Given the description of an element on the screen output the (x, y) to click on. 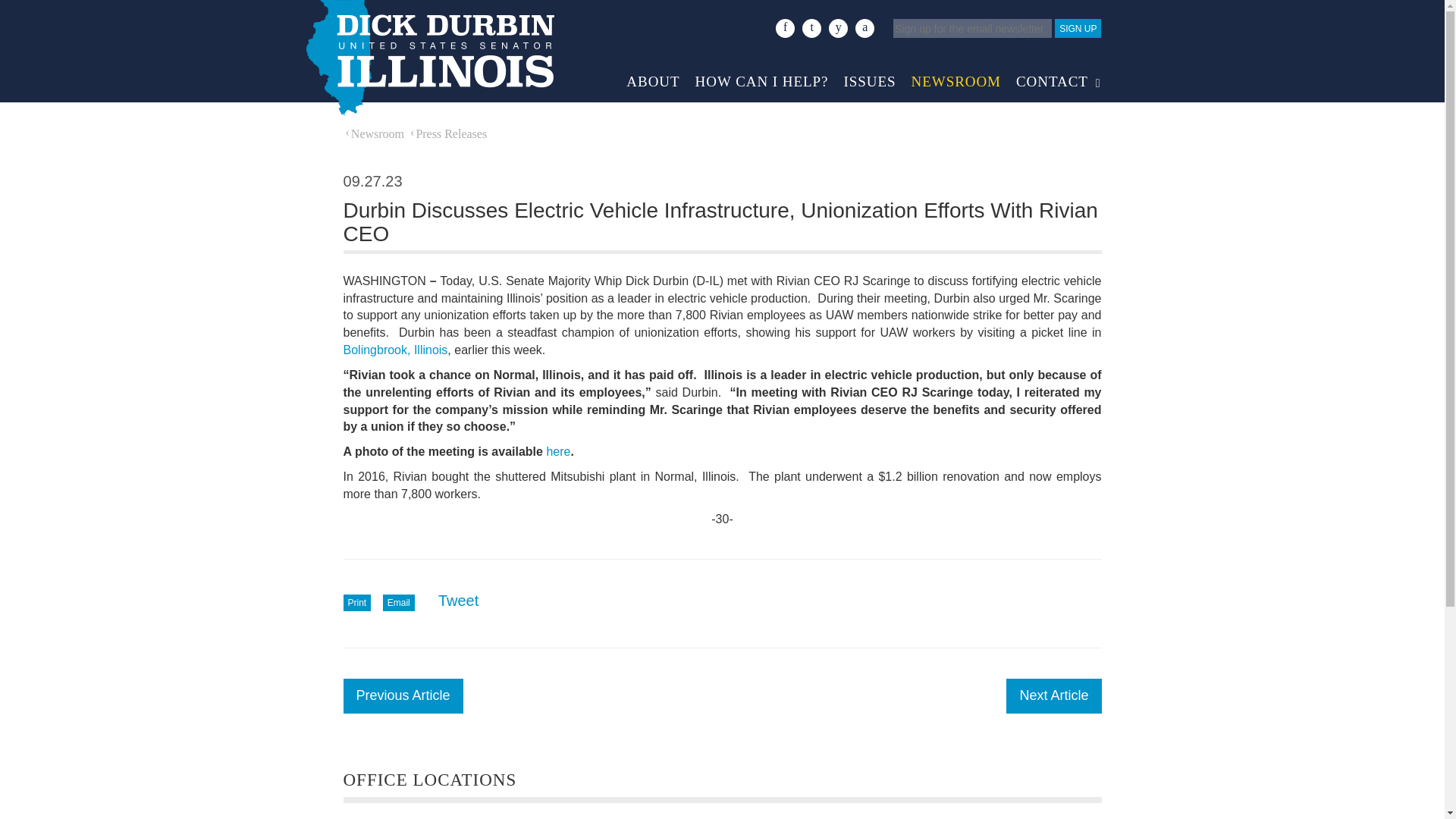
Senator Dick Durbin (428, 58)
y (837, 27)
f (785, 27)
SIGN UP (1077, 27)
SIGN UP (1077, 27)
ABOUT (652, 77)
a (865, 27)
t (811, 27)
